Given the description of an element on the screen output the (x, y) to click on. 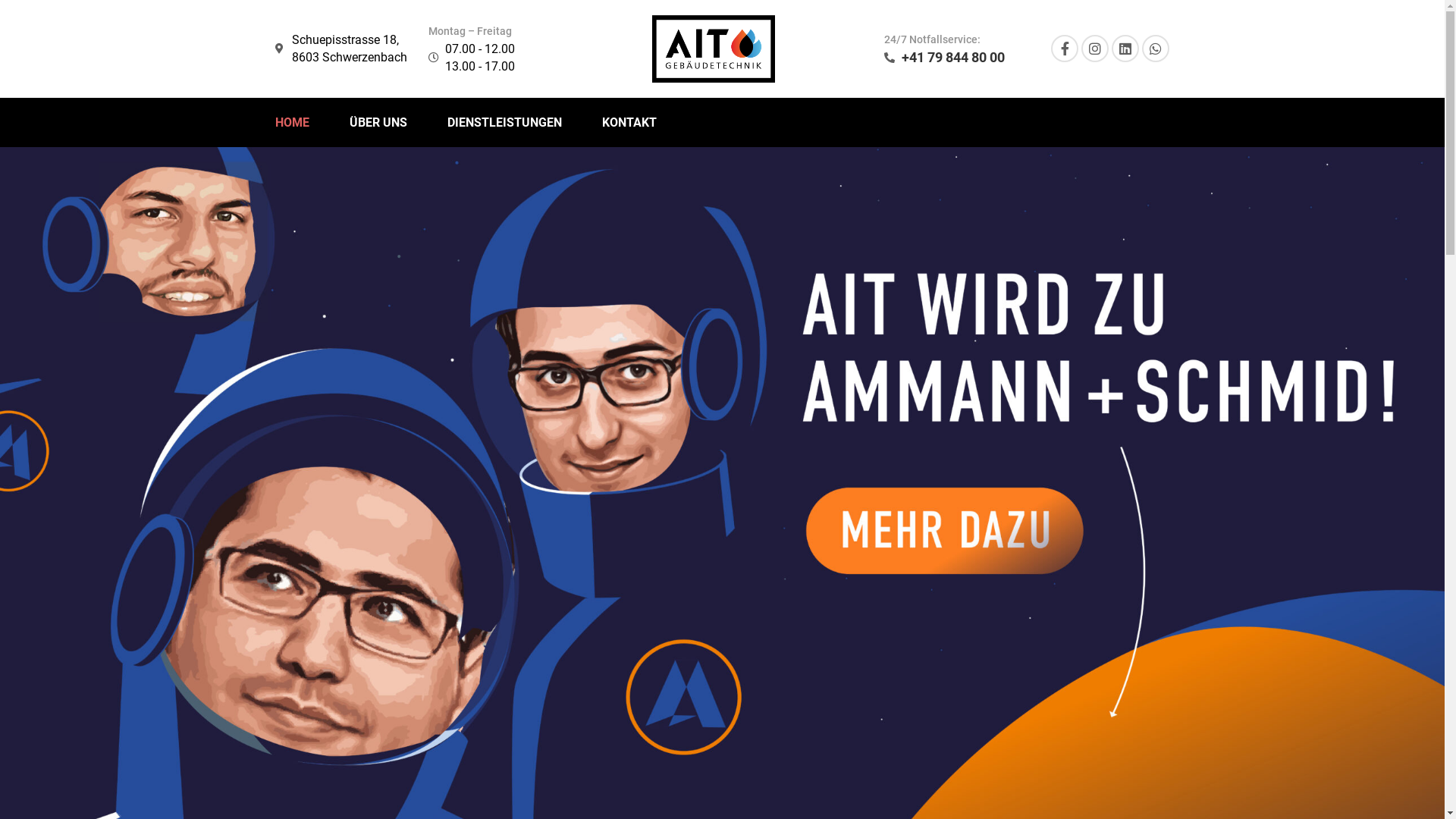
DIENSTLEISTUNGEN Element type: text (504, 122)
HOME Element type: text (291, 122)
+41 79 844 80 00 Element type: text (944, 56)
KONTAKT Element type: text (629, 122)
